Given the description of an element on the screen output the (x, y) to click on. 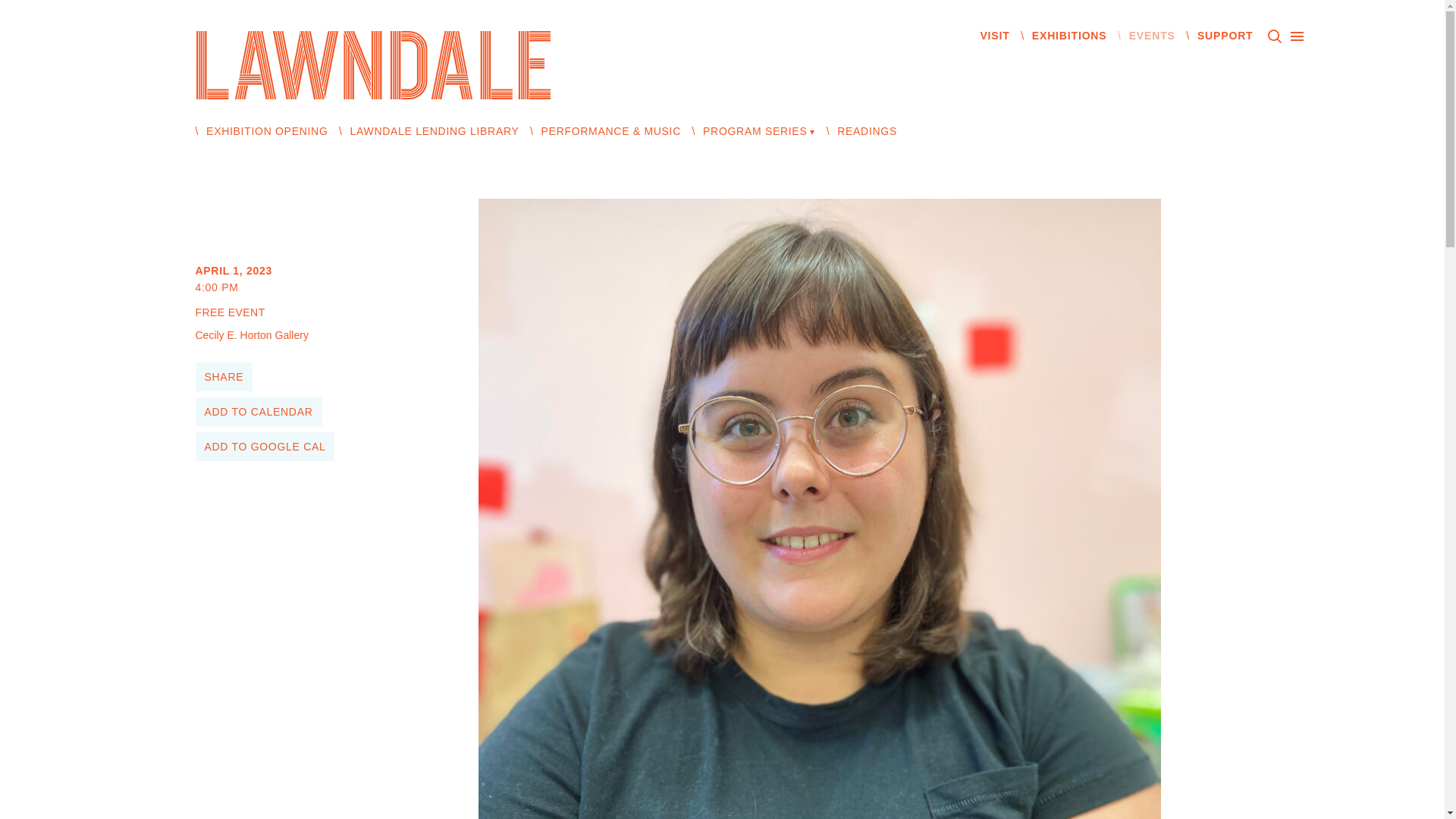
SUPPORT (1224, 35)
Lawndale Home Page (373, 64)
VISIT (994, 35)
EXHIBITION OPENING (266, 131)
EXHIBITIONS (1069, 35)
EVENTS (1151, 35)
